Given the description of an element on the screen output the (x, y) to click on. 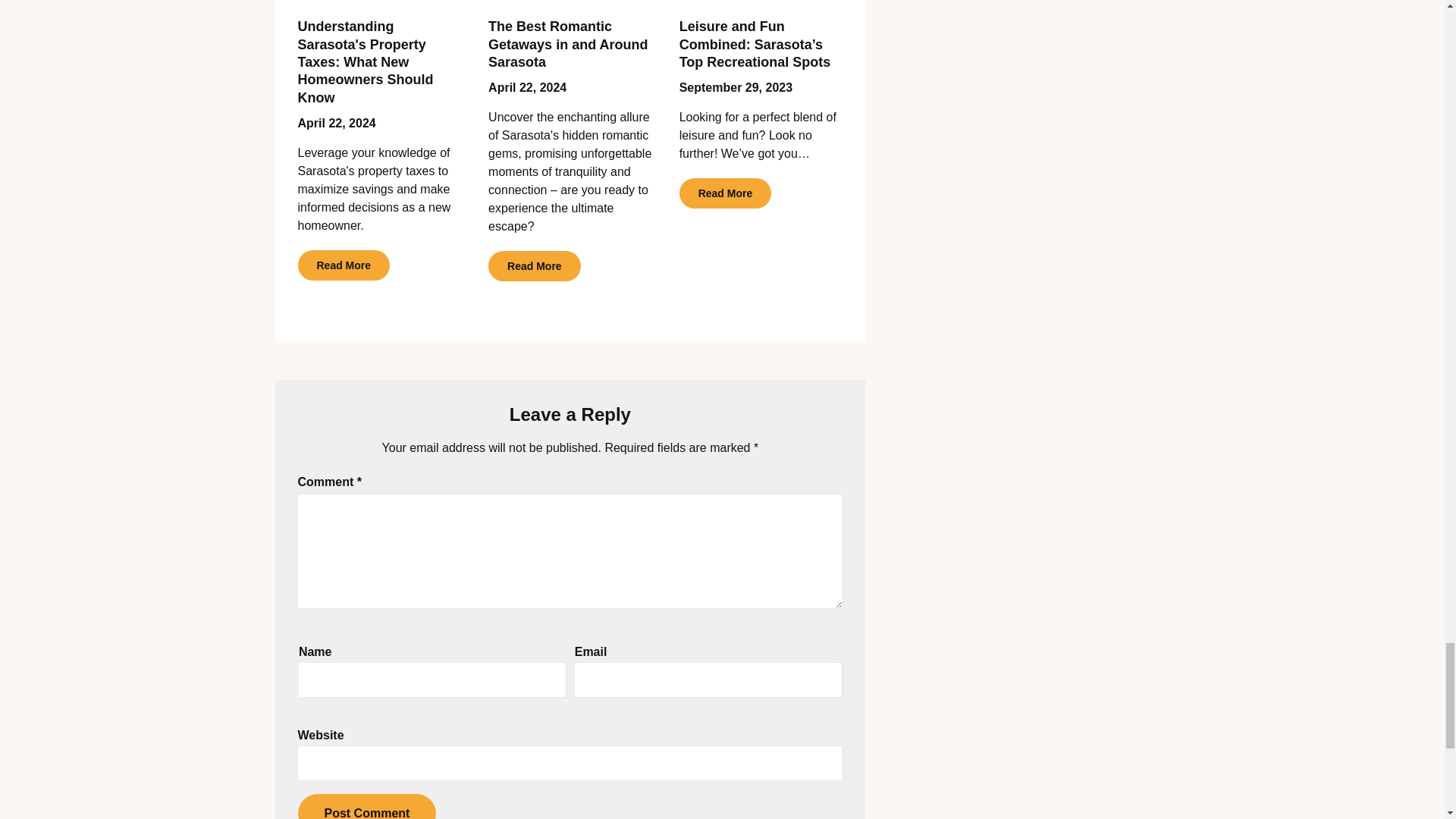
Read More (533, 265)
The Best Romantic Getaways in and Around Sarasota (567, 43)
Read More (343, 265)
April 22, 2024 (336, 123)
April 22, 2024 (526, 87)
Blog (379, 1)
Post Comment (366, 806)
Blog (569, 1)
